Given the description of an element on the screen output the (x, y) to click on. 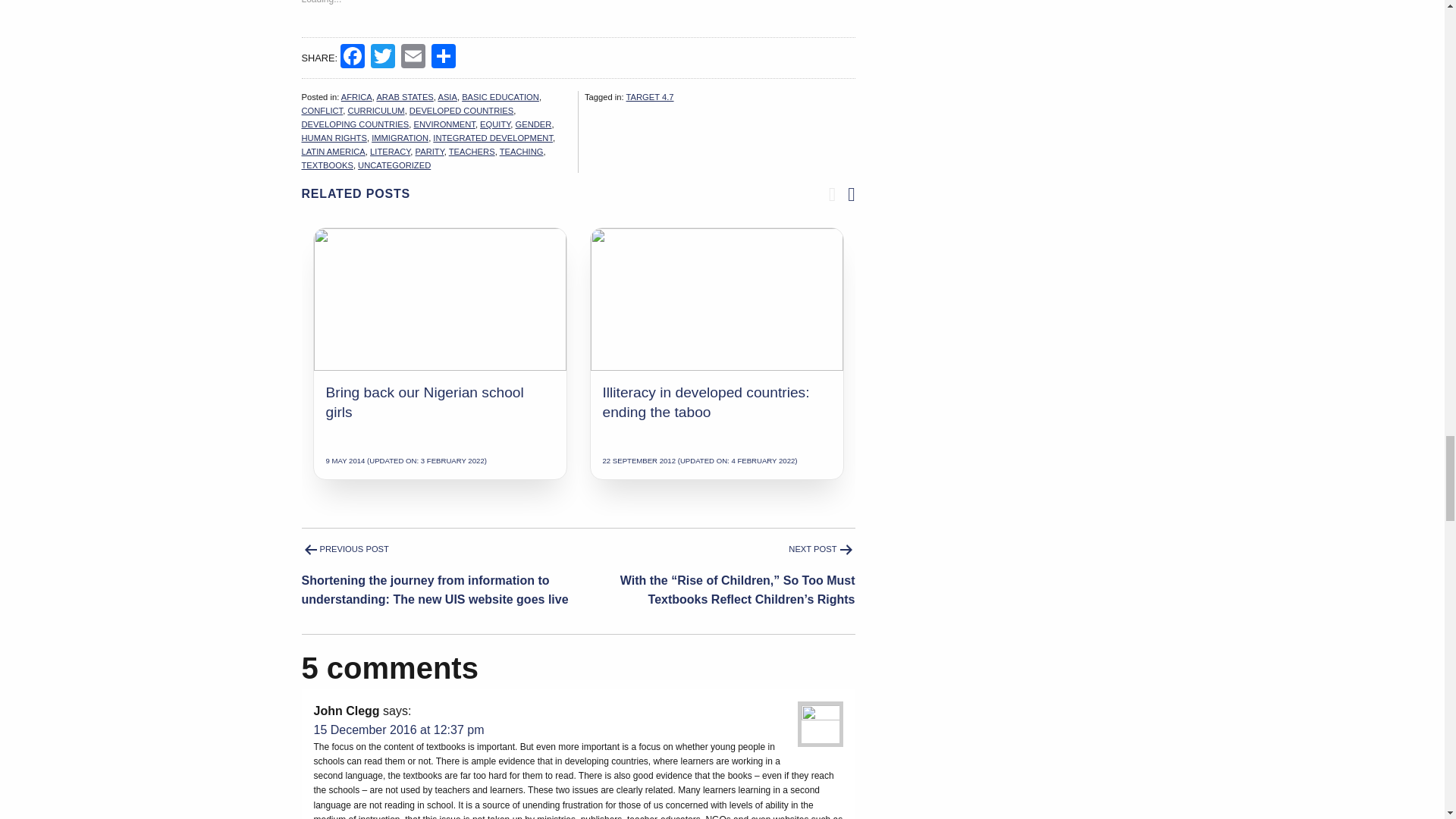
Twitter (382, 58)
Email (412, 58)
Facebook (352, 58)
